Given the description of an element on the screen output the (x, y) to click on. 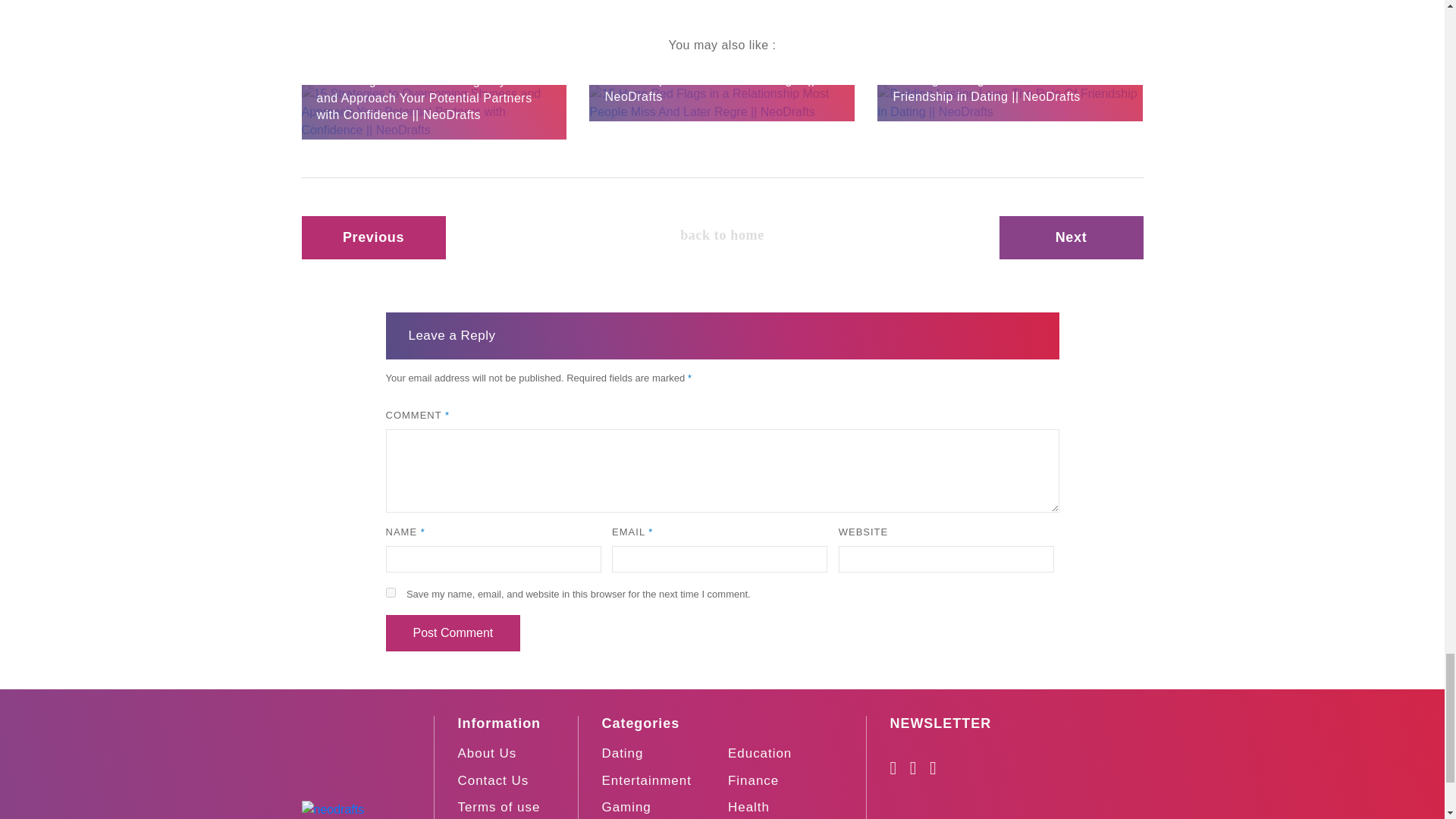
Post Comment (452, 633)
yes (389, 592)
